Given the description of an element on the screen output the (x, y) to click on. 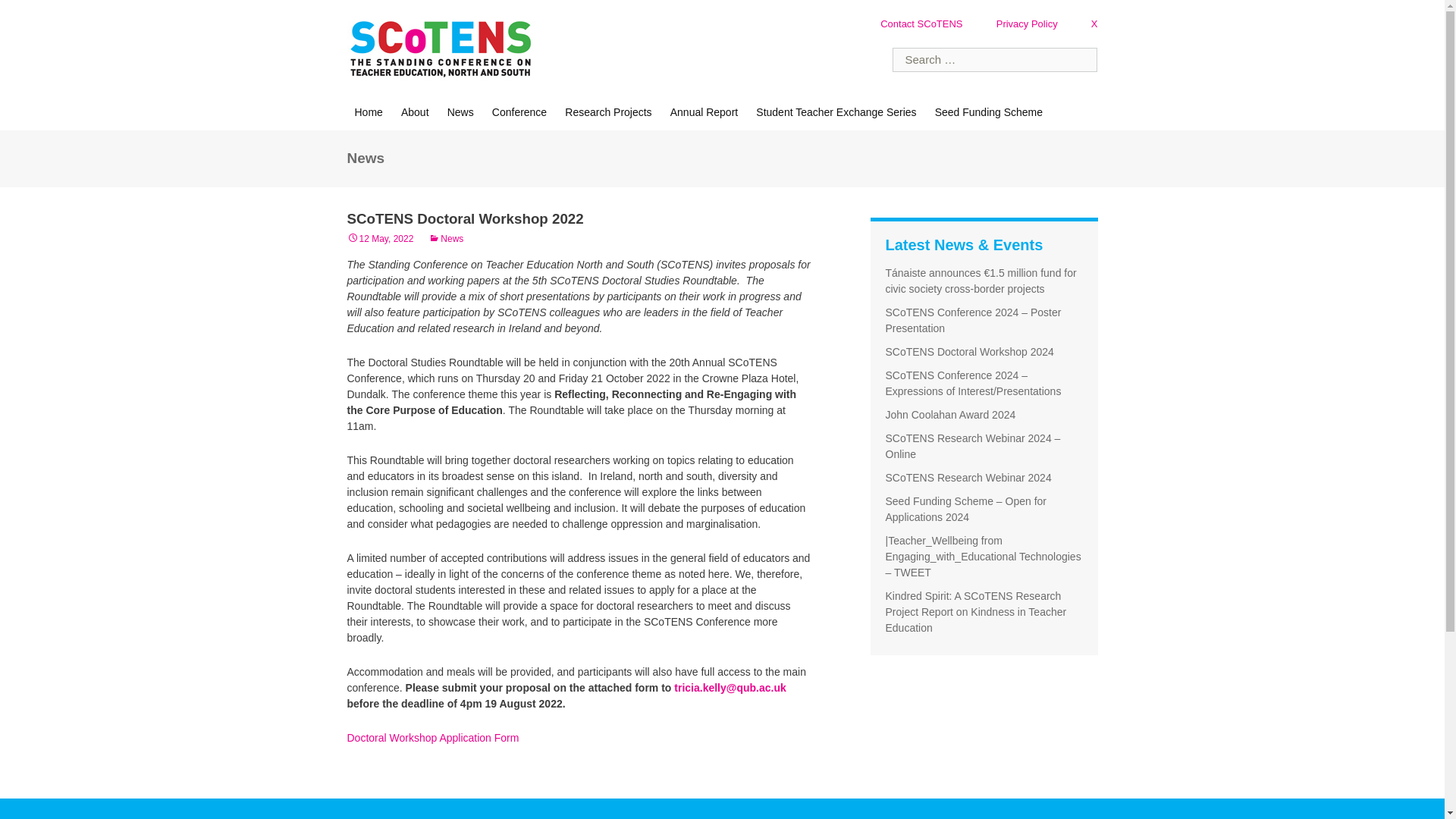
Permalink to SCoTENS Doctoral Workshop 2022 (380, 238)
SCoTENS Research Webinar 2024 (968, 477)
Research Projects (608, 111)
Doctoral Workshop Application Form (433, 737)
John Coolahan Award 2024 (950, 414)
John Coolahan Award 2024 (950, 414)
Conference (519, 111)
SCoTENS Research Webinar 2024 (968, 477)
Student Teacher Exchange Series (835, 111)
Seed Funding Scheme (988, 111)
SCoTENS Doctoral Workshop 2024 (969, 351)
Search (36, 15)
Home (368, 111)
12 May, 2022 (380, 238)
